Given the description of an element on the screen output the (x, y) to click on. 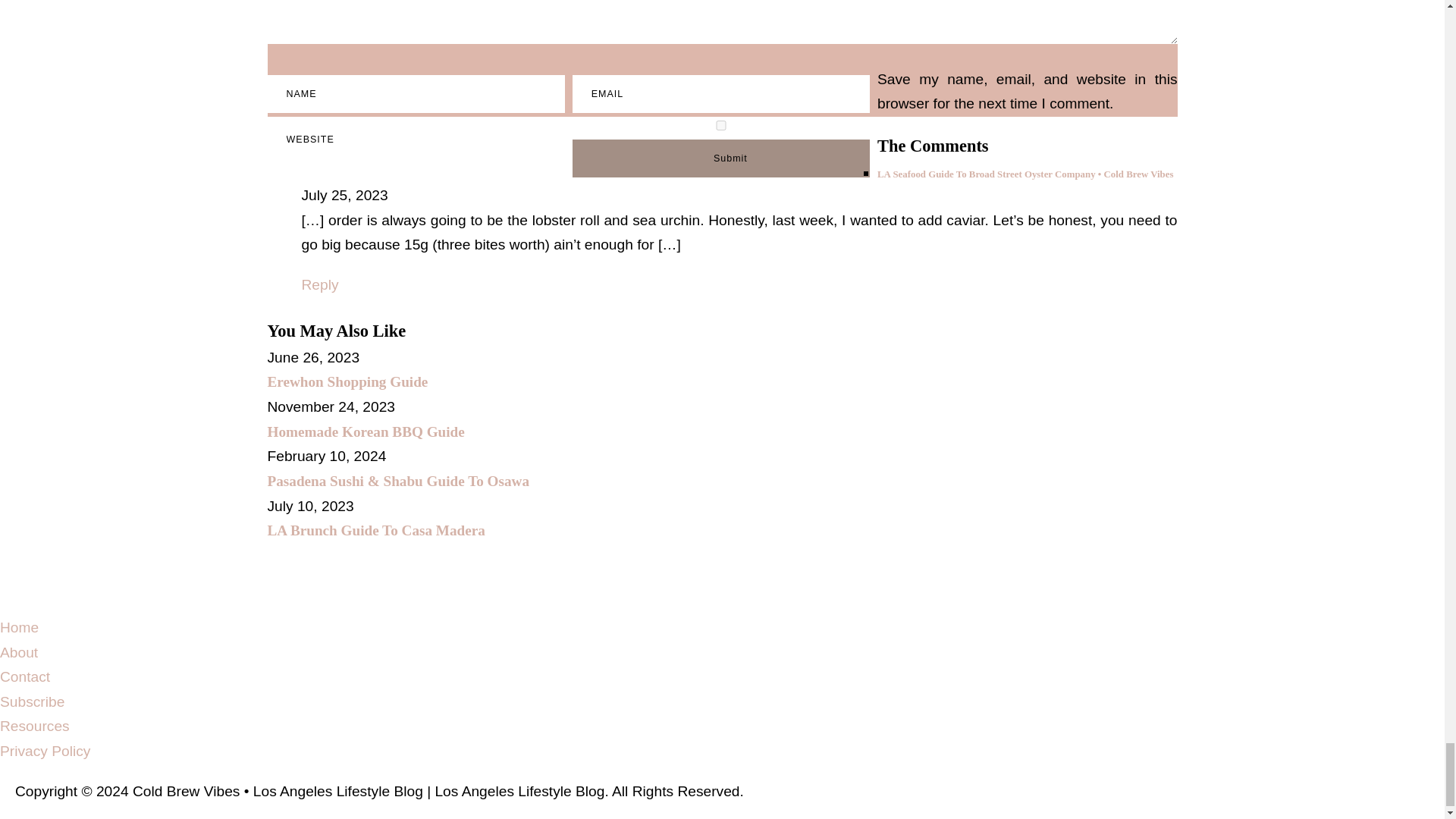
Submit (720, 158)
Homemade Korean BBQ Guide (365, 431)
yes (720, 125)
Reply (320, 284)
Erewhon Shopping Guide (347, 381)
LA Brunch Guide To Casa Madera (375, 530)
Submit (720, 158)
